Given the description of an element on the screen output the (x, y) to click on. 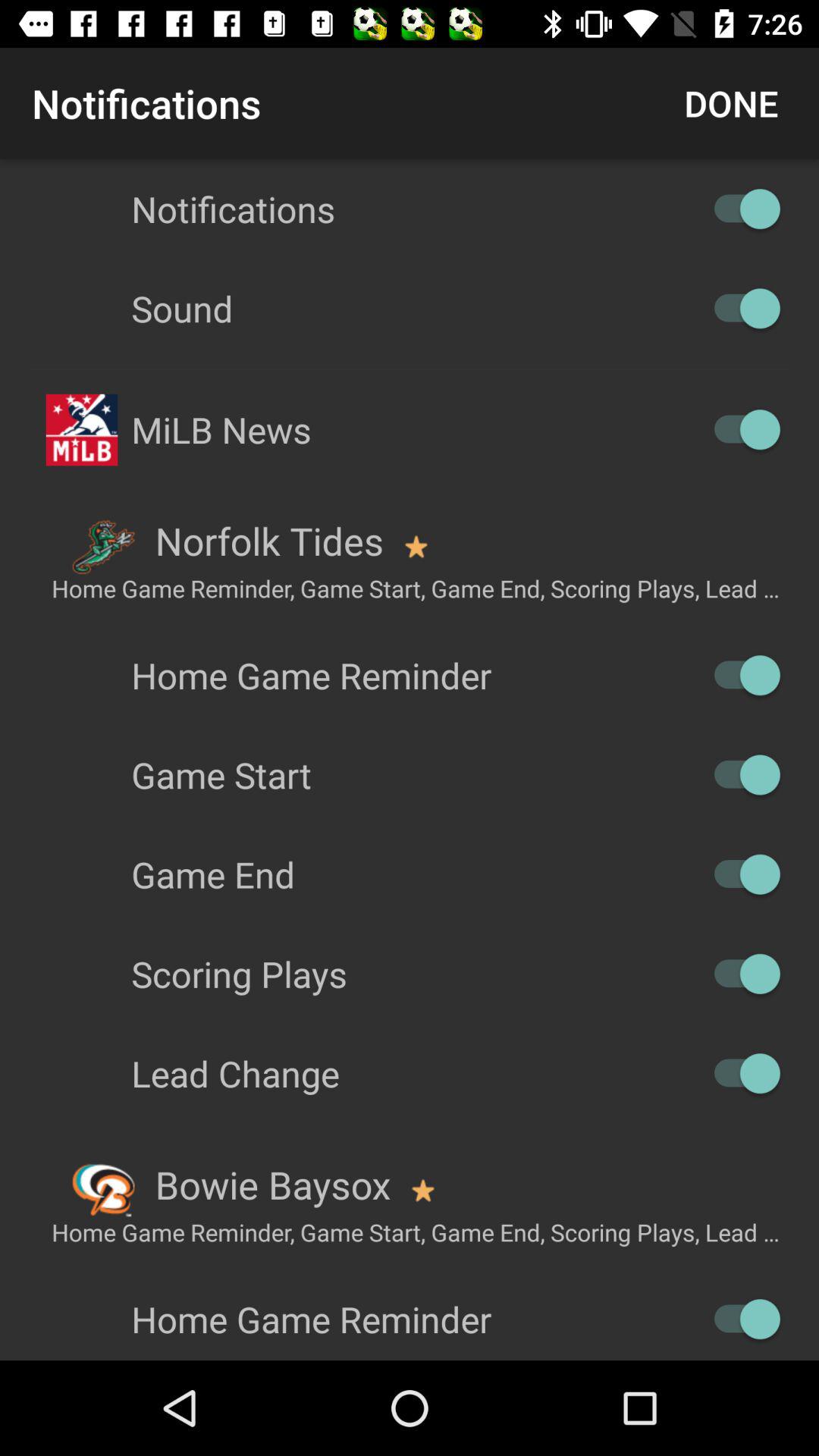
feature enable button (739, 973)
